Given the description of an element on the screen output the (x, y) to click on. 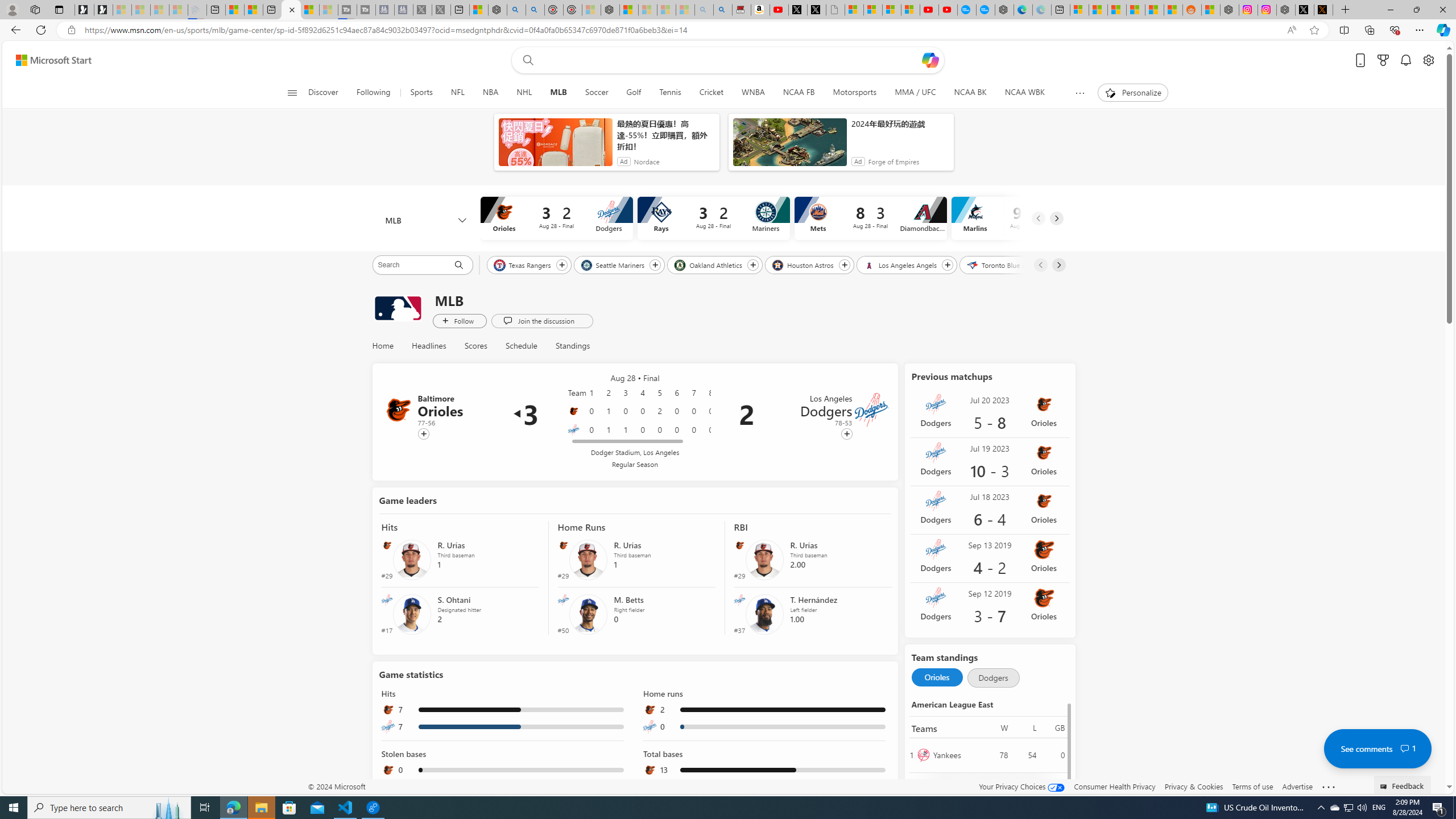
Enter your search term (730, 59)
Motorsports (855, 92)
Follow Los Angeles Angels (947, 265)
Microsoft rewards (1382, 60)
Gloom - YouTube (929, 9)
Oakland Athletics (709, 264)
Web search (526, 60)
See comments 1 (1377, 748)
MMA / UFC (914, 92)
Cricket (711, 92)
Ad (857, 161)
